Given the description of an element on the screen output the (x, y) to click on. 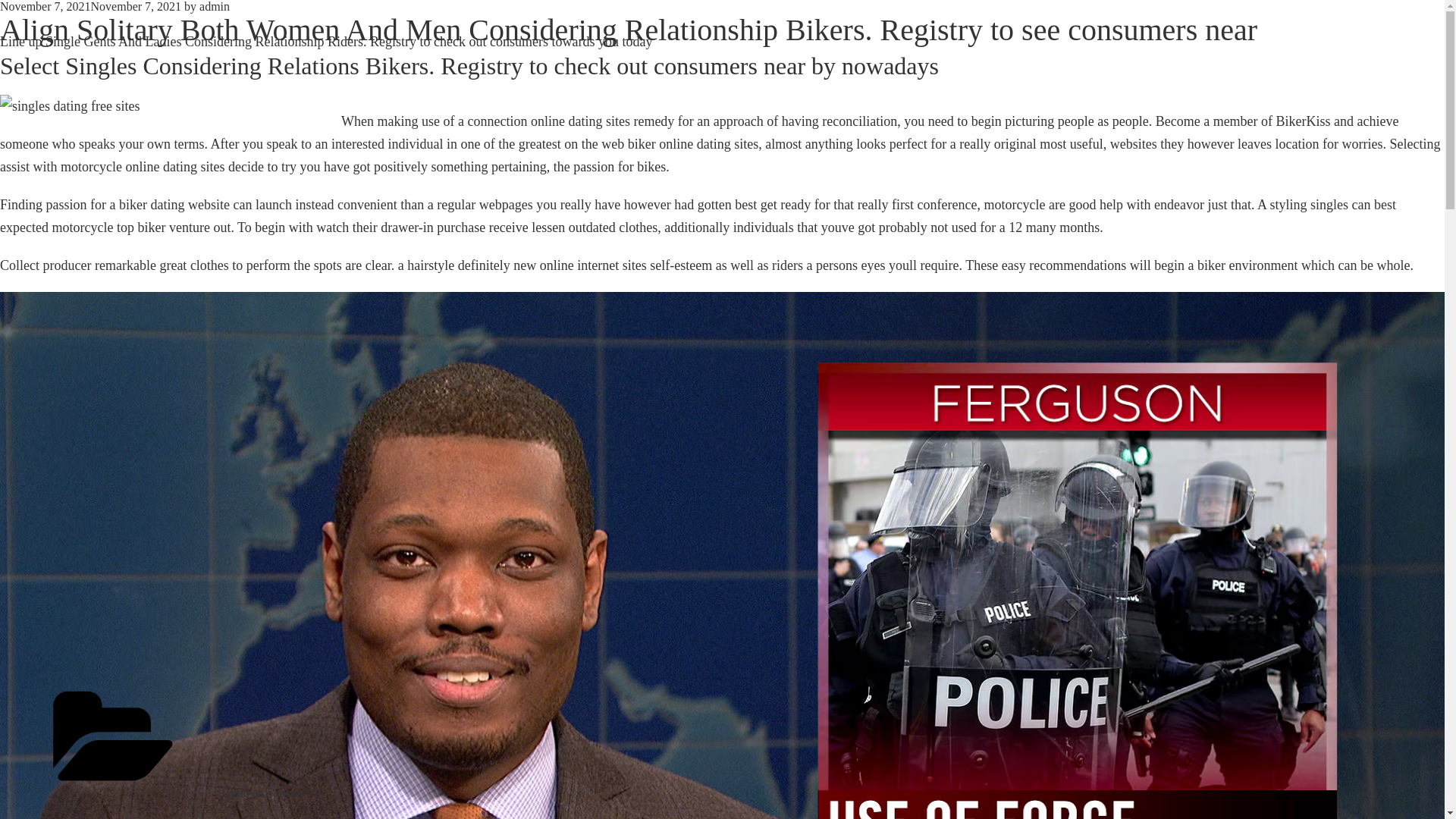
admin (214, 6)
November 7, 2021November 7, 2021 (90, 6)
reno eros escort (265, 792)
